Given the description of an element on the screen output the (x, y) to click on. 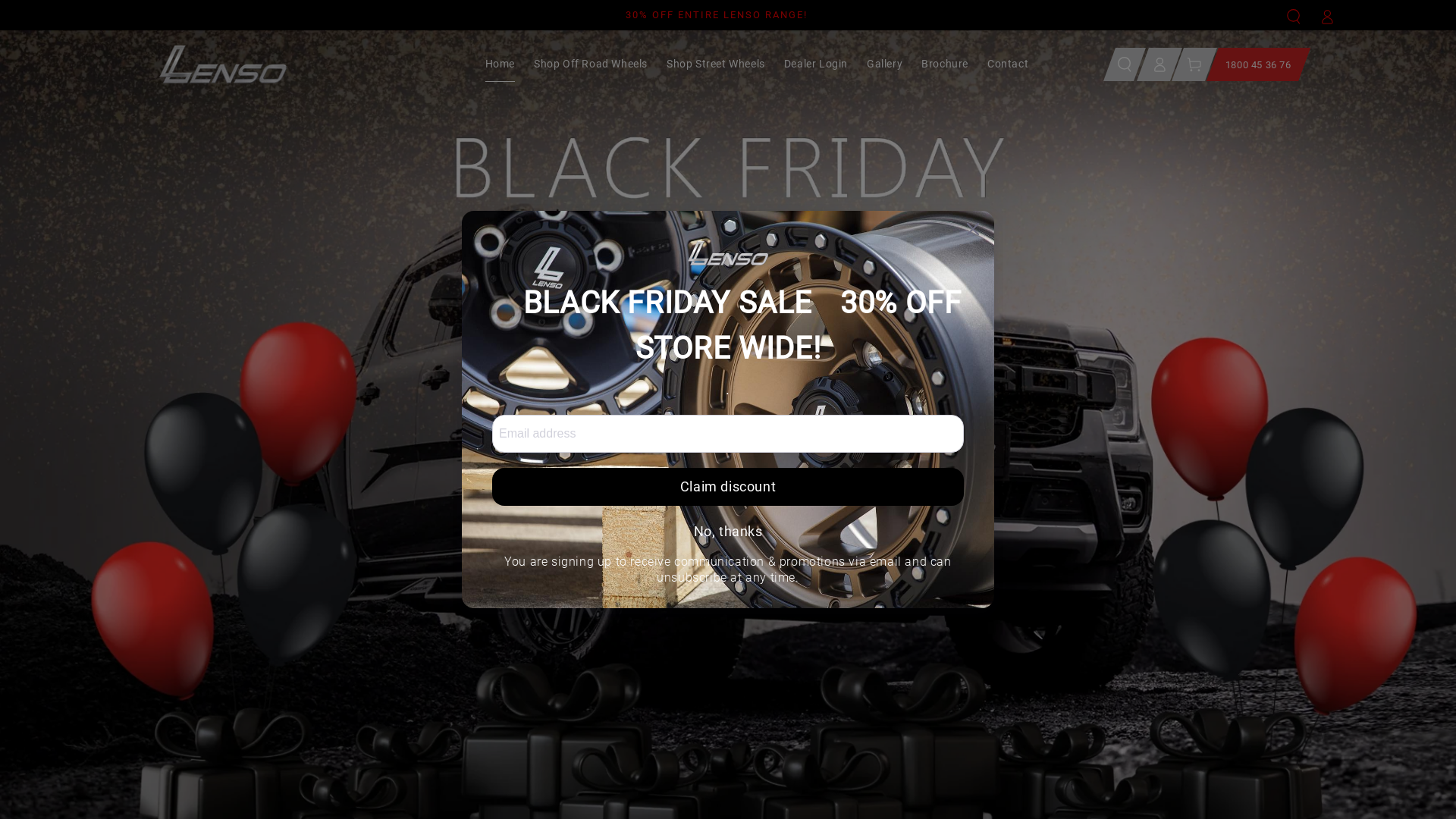
Contact Element type: text (1007, 63)
Dealer Login Element type: text (815, 63)
1800 45 36 76 Element type: text (1252, 64)
Home Element type: text (499, 63)
Log in Element type: text (1326, 16)
Gallery Element type: text (884, 63)
Shop Street Wheels Element type: text (715, 63)
Brochure Element type: text (944, 63)
Log in Element type: text (1159, 64)
Shop Off Road Wheels Element type: text (590, 63)
